Given the description of an element on the screen output the (x, y) to click on. 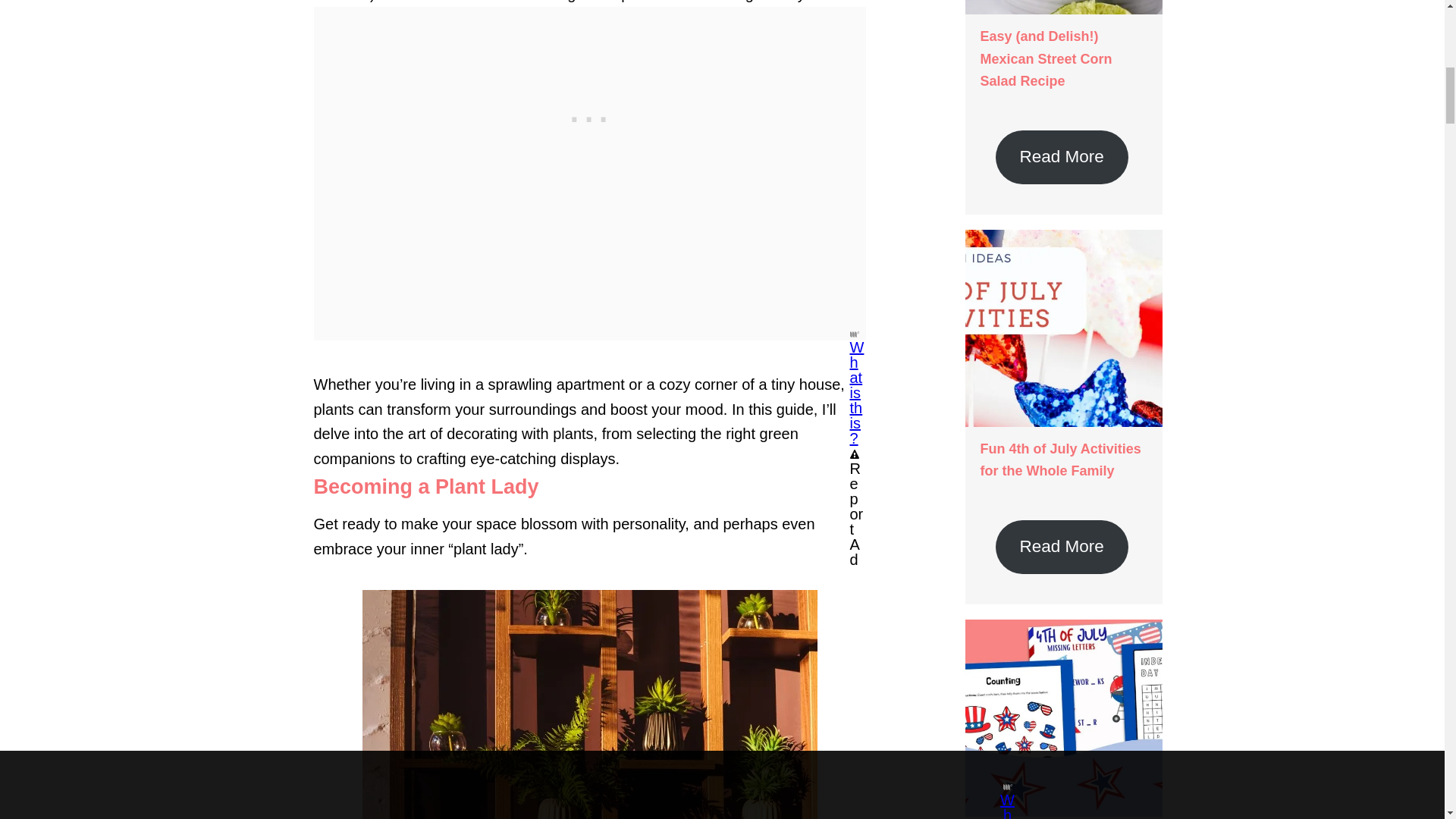
3rd party ad content (590, 40)
